Given the description of an element on the screen output the (x, y) to click on. 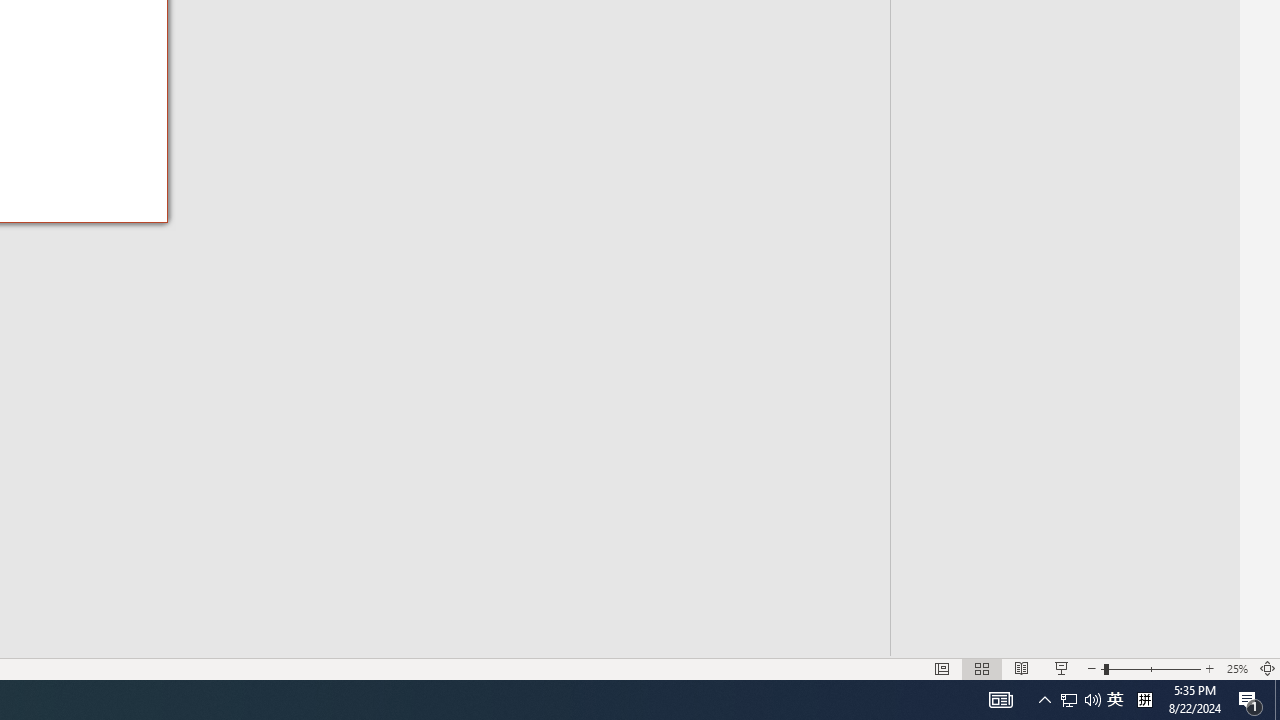
Action Center, 1 new notification (1250, 699)
Zoom 25% (1236, 668)
